Given the description of an element on the screen output the (x, y) to click on. 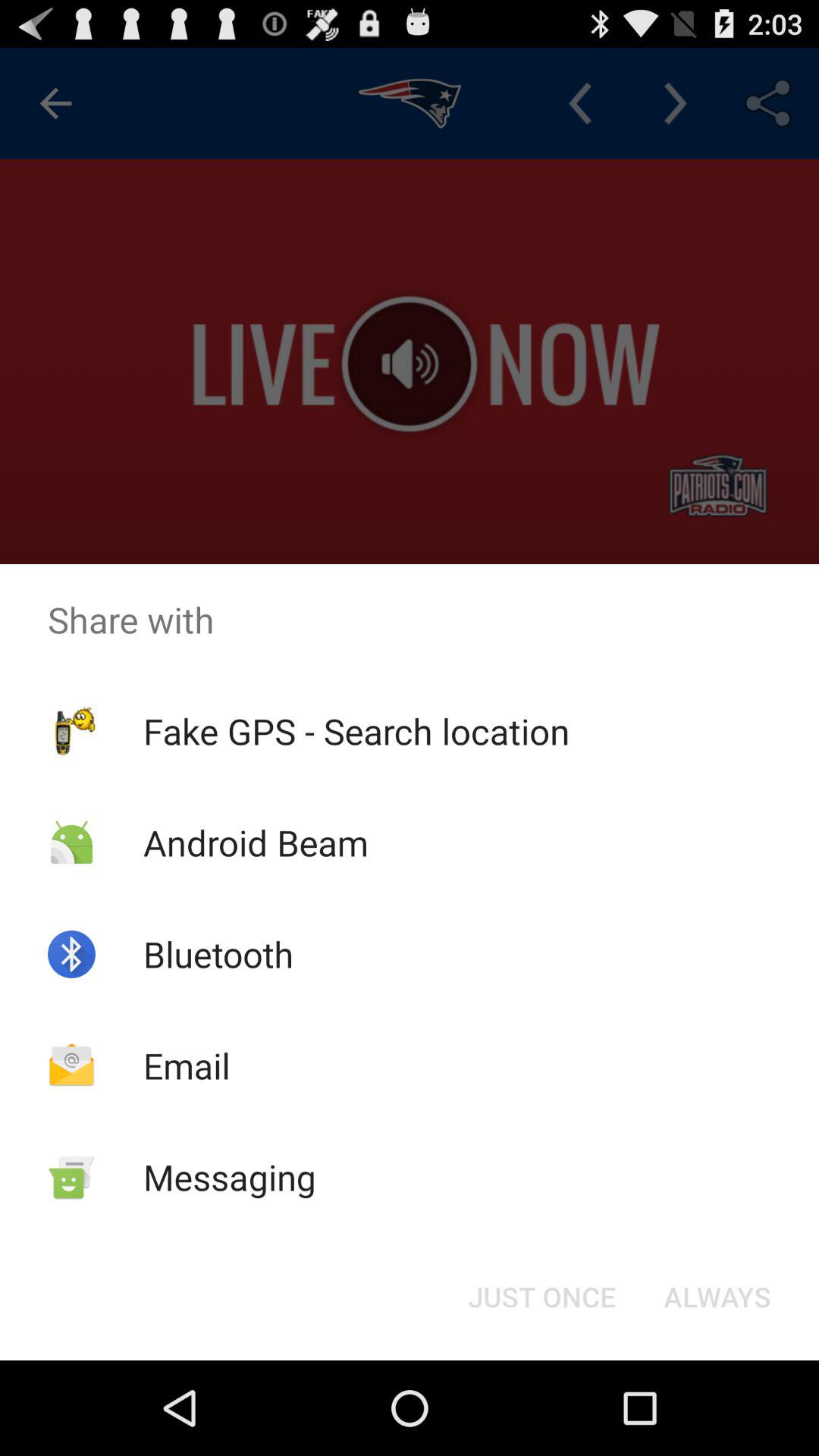
open the button at the bottom right corner (717, 1296)
